Given the description of an element on the screen output the (x, y) to click on. 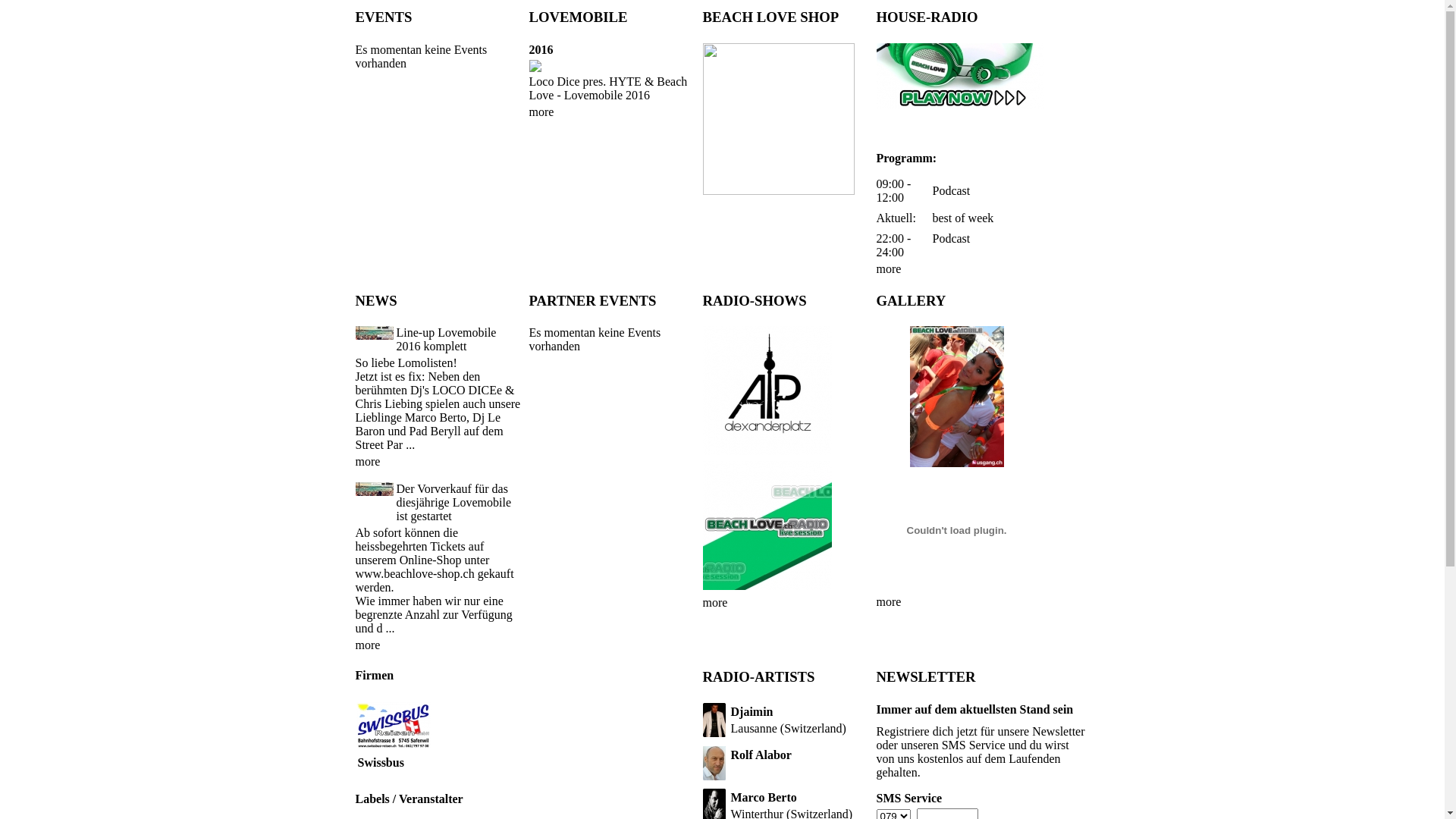
more Element type: text (541, 111)
Podcast Element type: text (951, 238)
more Element type: text (714, 602)
more Element type: text (611, 111)
more Element type: text (888, 601)
more Element type: text (438, 461)
Podcast Element type: text (951, 190)
more Element type: text (767, 602)
more Element type: text (366, 461)
more Element type: text (888, 268)
https://www.youtube.com/v/1eqMvOLy6Ro Element type: hover (955, 581)
BEACHLOVEMOBILE_Streetparade_2012_Zurich_076.jpg Element type: hover (957, 396)
best of week Element type: text (963, 217)
more Element type: text (366, 644)
more Element type: text (956, 601)
more Element type: text (959, 268)
more Element type: text (438, 644)
